Given the description of an element on the screen output the (x, y) to click on. 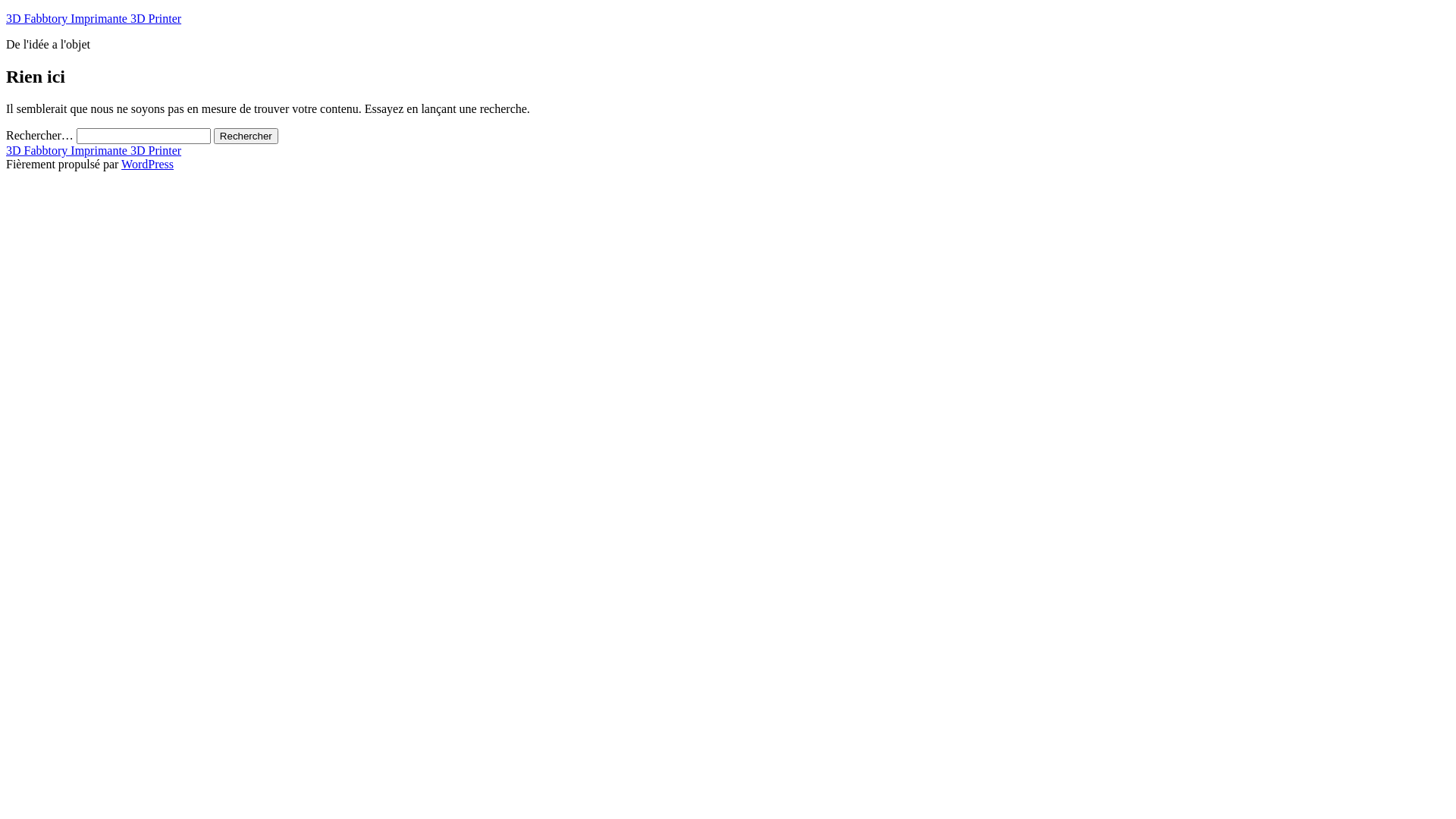
WordPress Element type: text (147, 163)
3D Fabbtory Imprimante 3D Printer Element type: text (93, 18)
Rechercher Element type: text (245, 136)
3D Fabbtory Imprimante 3D Printer Element type: text (93, 150)
Aller au contenu Element type: text (5, 11)
